Given the description of an element on the screen output the (x, y) to click on. 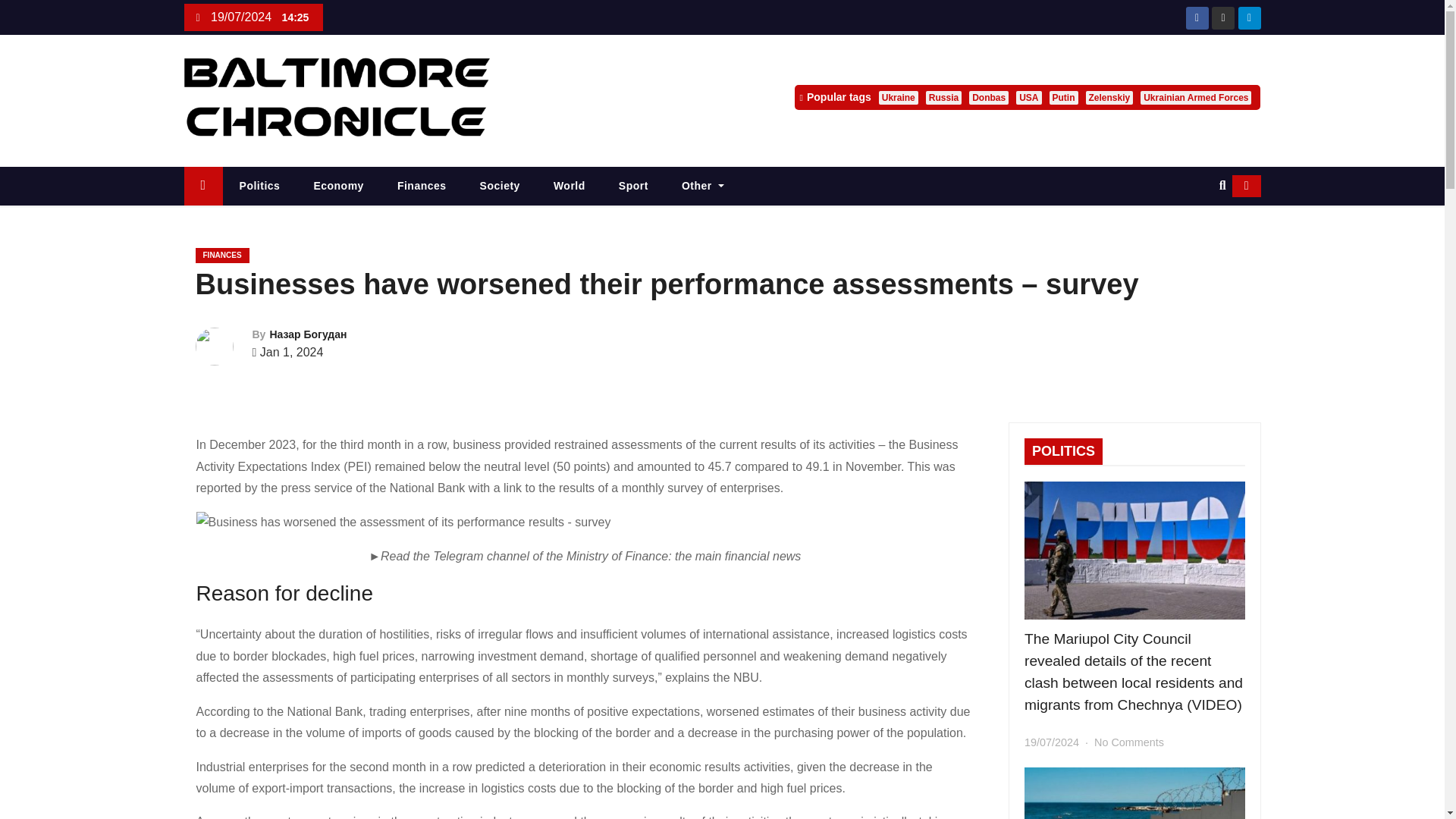
Society (500, 186)
Economy (338, 186)
Sport (633, 186)
Other (703, 186)
Sport (633, 186)
Other (703, 186)
World (569, 186)
USA (1028, 97)
Economy (338, 186)
Politics (259, 186)
FINANCES (221, 255)
Politics (259, 186)
World (569, 186)
Home (202, 186)
Putin (1063, 97)
